Given the description of an element on the screen output the (x, y) to click on. 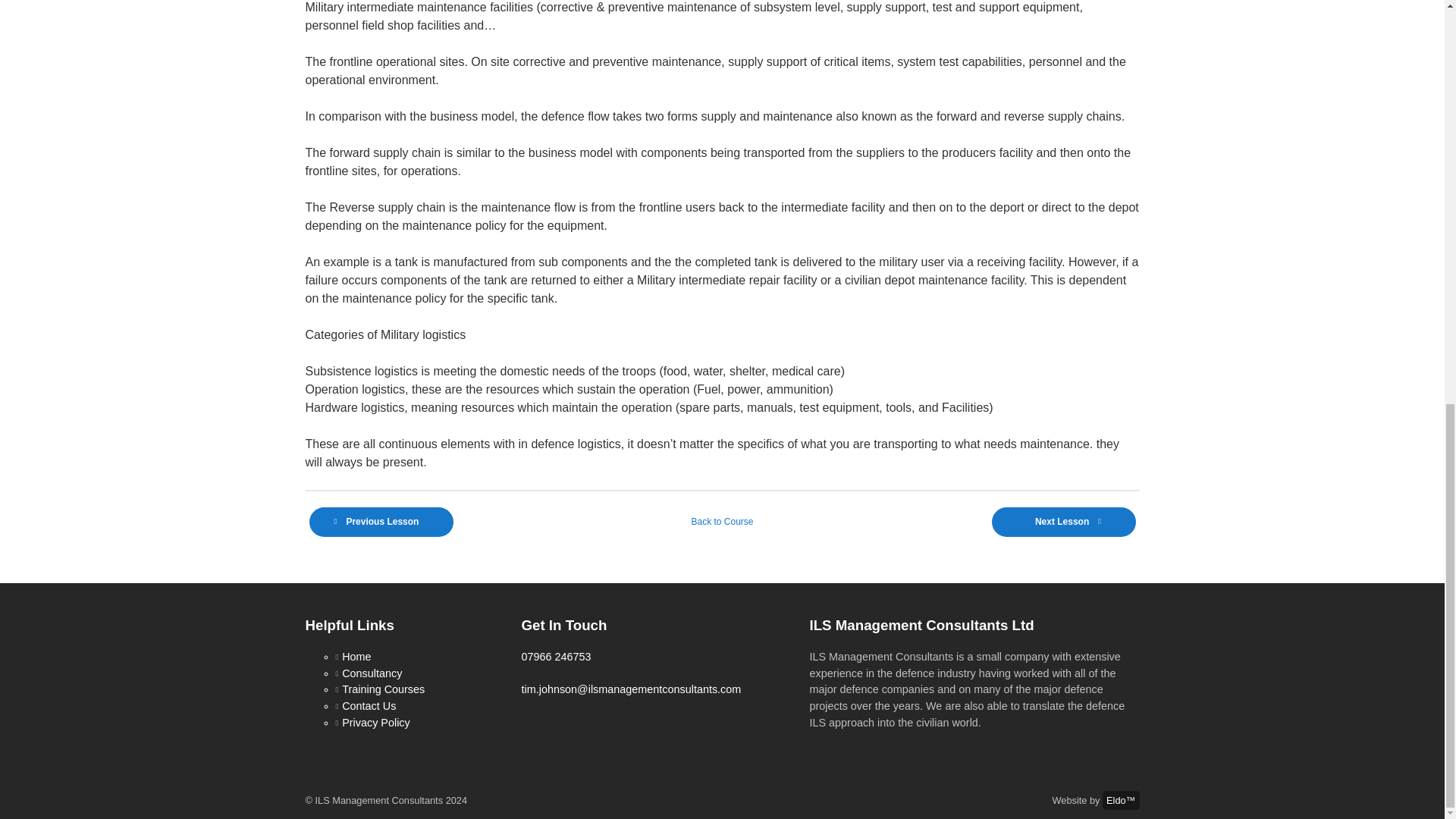
Contact Us (369, 705)
Previous Lesson (380, 521)
Consultancy (371, 673)
Home (356, 656)
Back to Course (722, 521)
Privacy Policy (376, 722)
07966 246753 (556, 656)
Training Courses (383, 689)
Next Lesson (1063, 521)
